Given the description of an element on the screen output the (x, y) to click on. 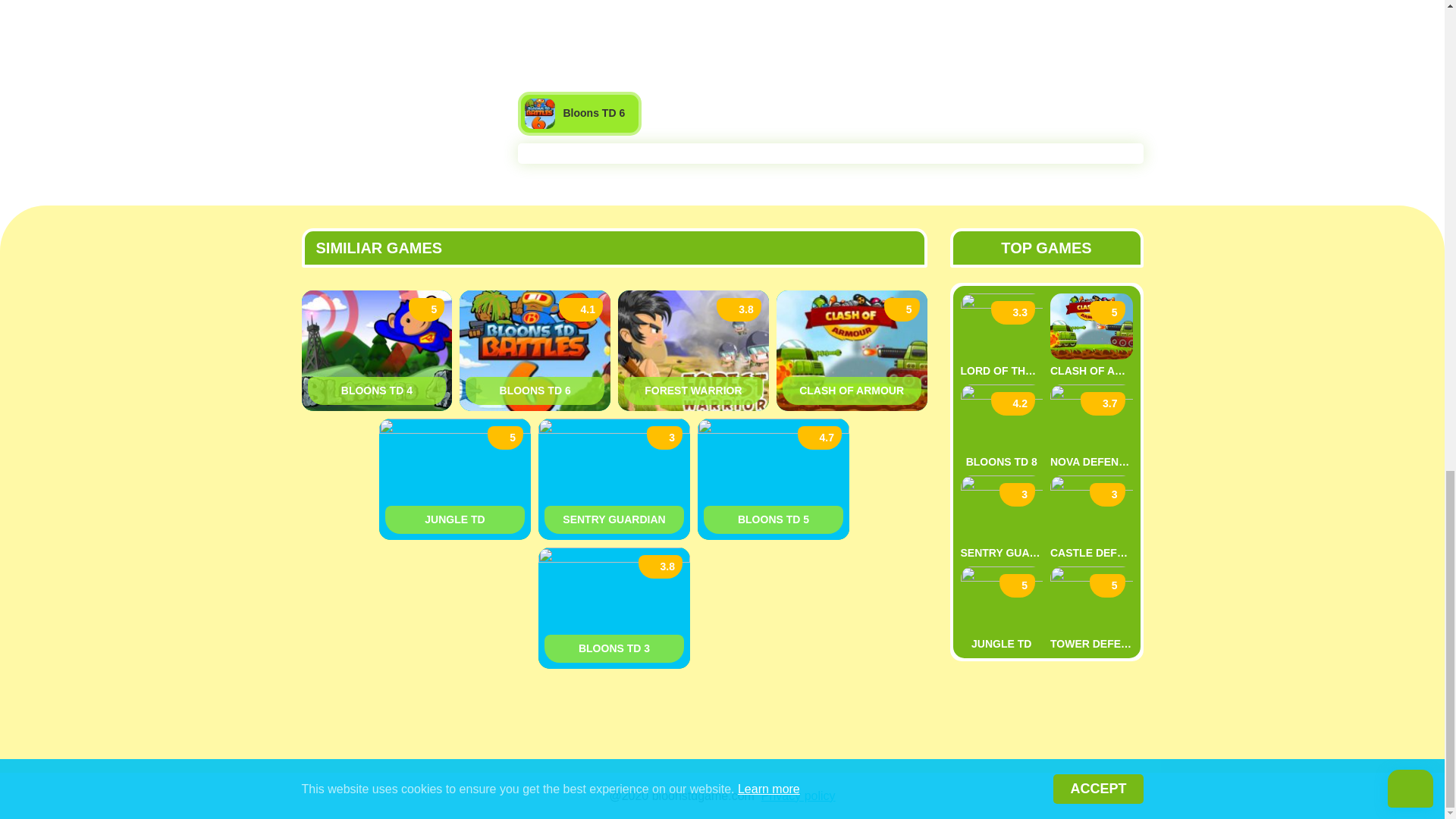
BLOONS TD 5 (773, 519)
Bloons TD 6 (534, 390)
BLOONS TD 3 (614, 648)
BLOONS TD 4 (376, 390)
JUNGLE TD (454, 519)
Bloons TD 6 (579, 113)
SENTRY GUARDIAN (614, 519)
FOREST WARRIOR (693, 390)
CLASH OF ARMOUR (852, 390)
BLOONS TD 6 (534, 390)
